Given the description of an element on the screen output the (x, y) to click on. 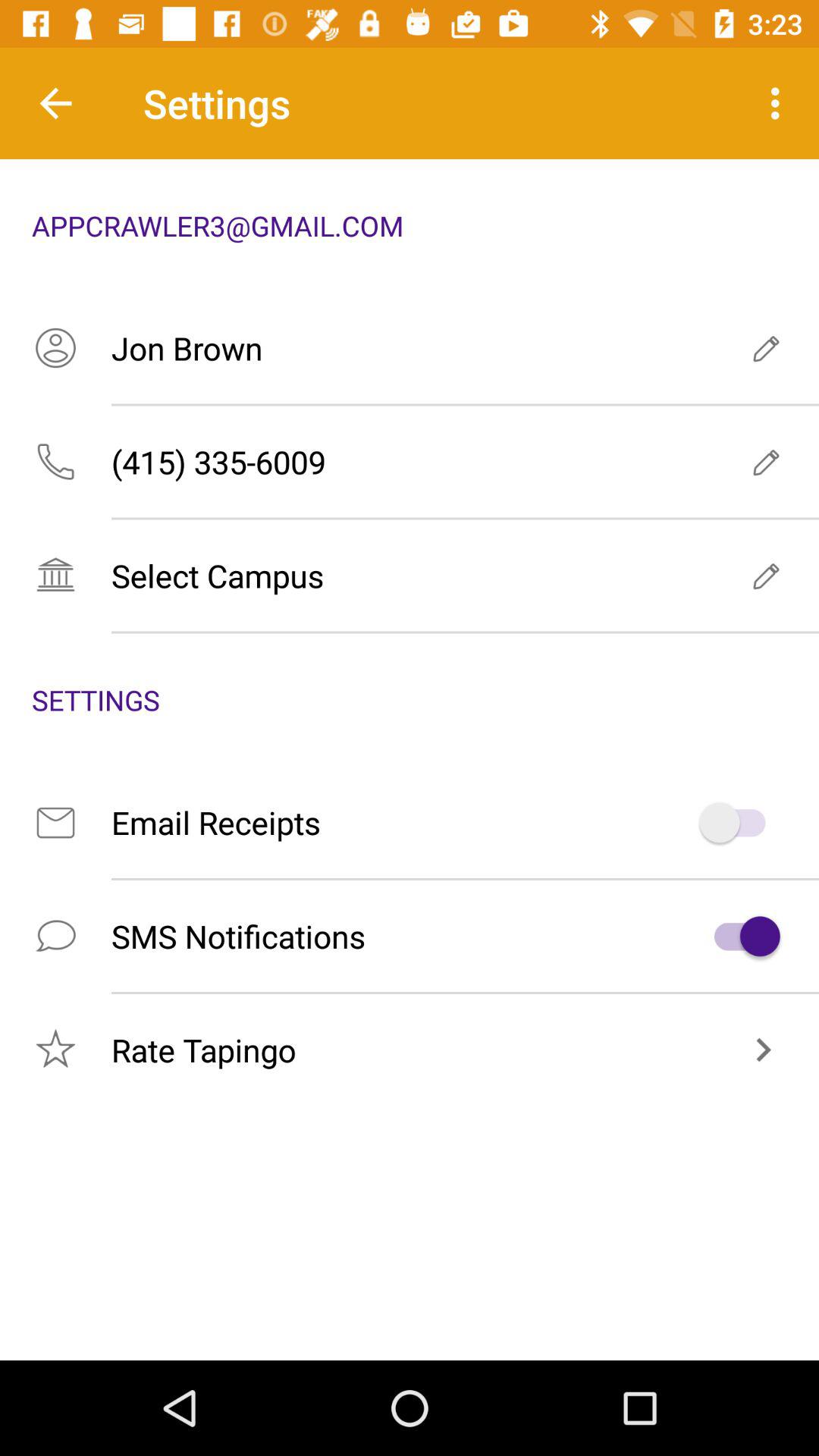
choose select campus item (409, 575)
